Given the description of an element on the screen output the (x, y) to click on. 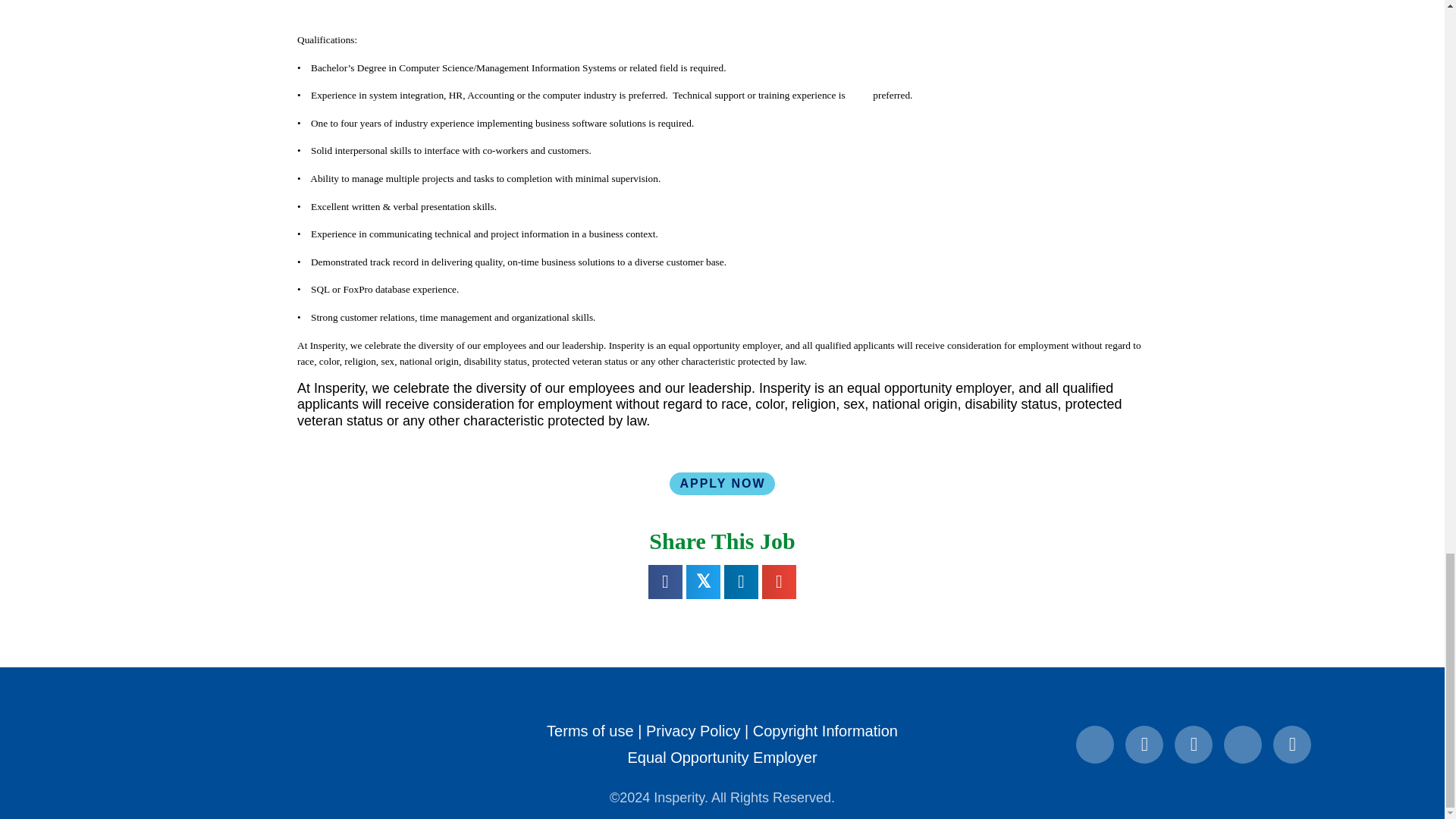
Privacy Policy (692, 730)
Terms of use (590, 730)
Copyright Information (825, 730)
APPLY NOW (721, 483)
